Given the description of an element on the screen output the (x, y) to click on. 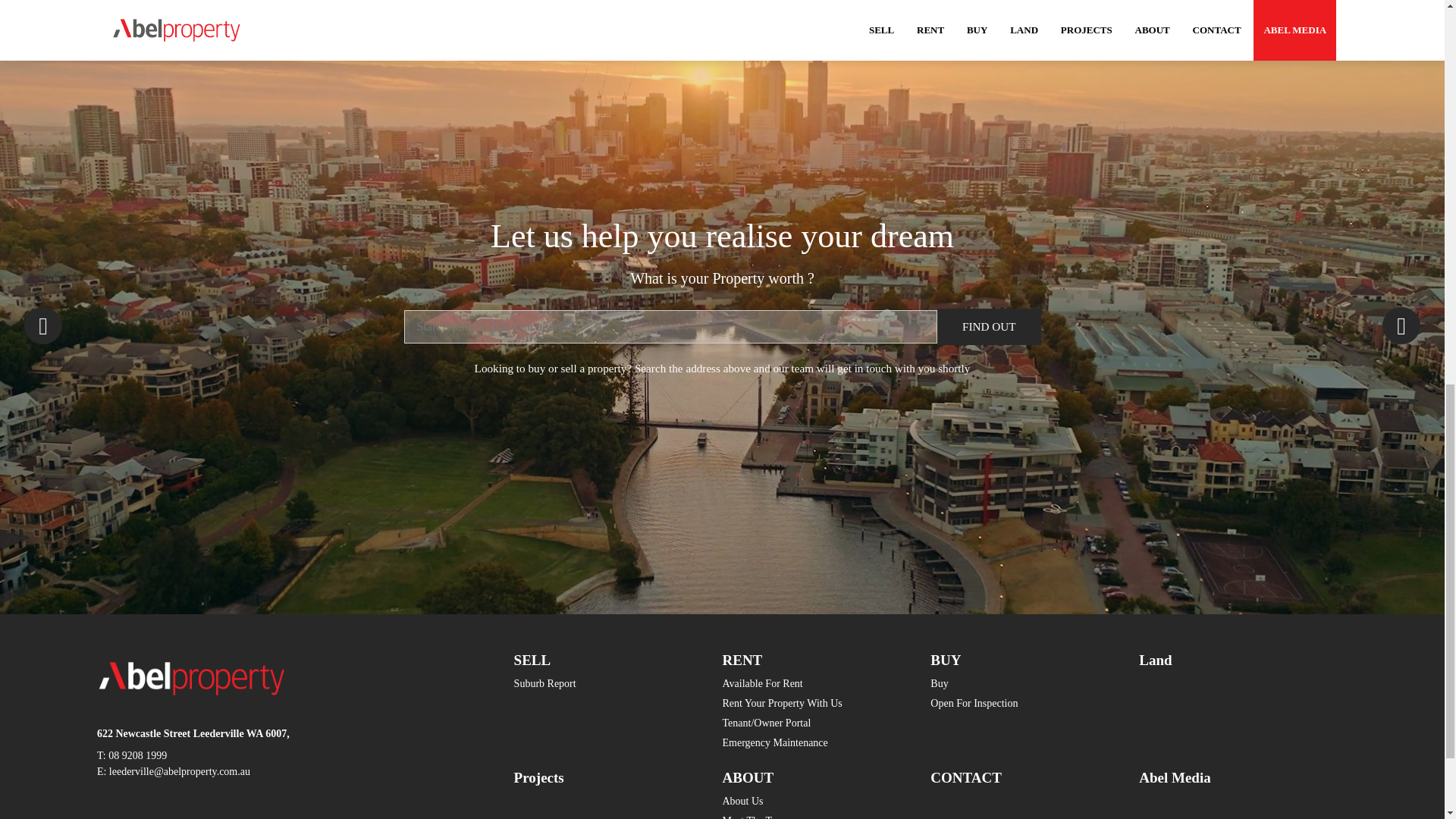
FIND OUT (989, 326)
